Given the description of an element on the screen output the (x, y) to click on. 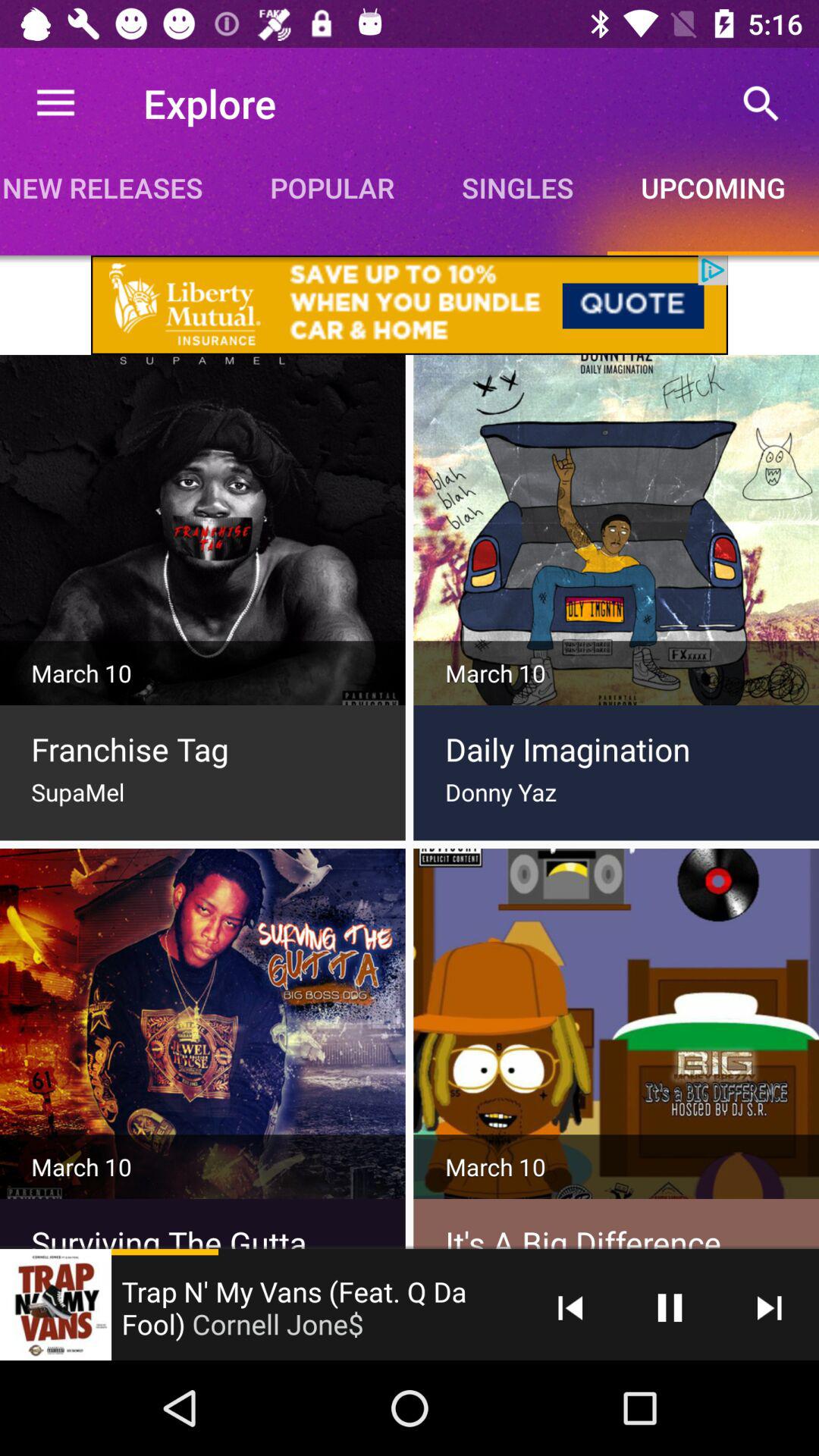
press item to the right of new releases icon (332, 187)
